Given the description of an element on the screen output the (x, y) to click on. 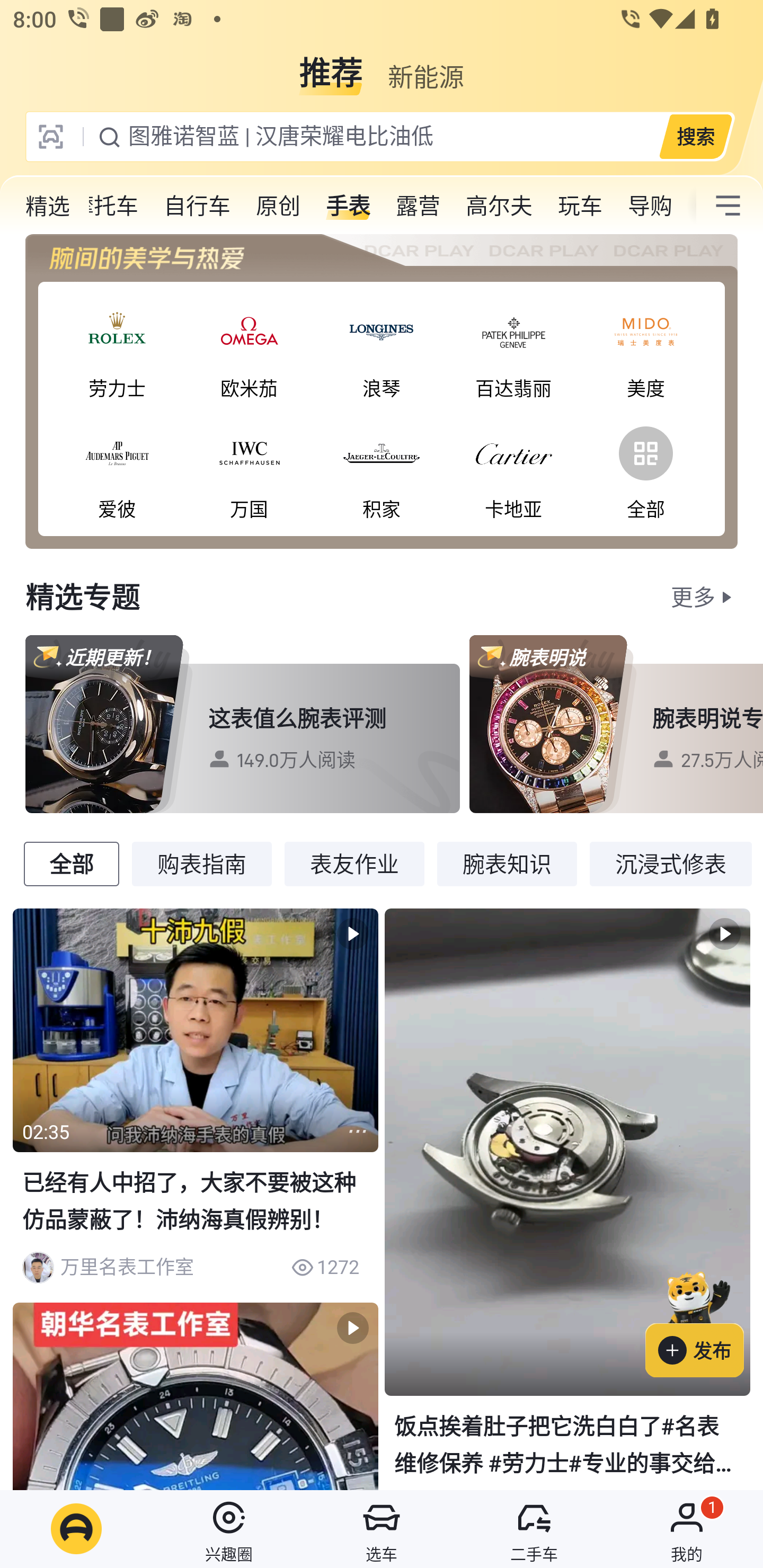
推荐 (330, 65)
新能源 (425, 65)
搜索 (695, 136)
自行车 (197, 205)
原创 (277, 205)
手表 (347, 205)
露营 (418, 205)
高尔夫 (499, 205)
玩车 (579, 205)
导购 (649, 205)
 (727, 205)
精选 (47, 206)
劳力士 (117, 348)
欧米茄 (249, 348)
浪琴 (381, 348)
百达翡丽 (513, 348)
美度 (645, 348)
爱彼 (117, 469)
万国 (249, 469)
积家 (381, 469)
卡地亚 (513, 469)
全部 (645, 469)
更多  (703, 596)
近期更新！ 这表值么腕表评测  149.0万人阅读 (242, 724)
腕表明说 腕表明说专业评测  27.5万人阅读 (616, 724)
全部 (71, 863)
购表指南 (201, 863)
表友作业 (354, 863)
腕表知识 (506, 863)
沉浸式修表 (670, 863)
  饭点挨着肚子把它洗白白了#名表维修保养 #劳力士#专业的事交给专业的人来做更靠谱 (567, 1198)
 (357, 1132)
发布 (704, 1320)
 兴趣圈 (228, 1528)
 选车 (381, 1528)
 二手车 (533, 1528)
 我的 (686, 1528)
